Given the description of an element on the screen output the (x, y) to click on. 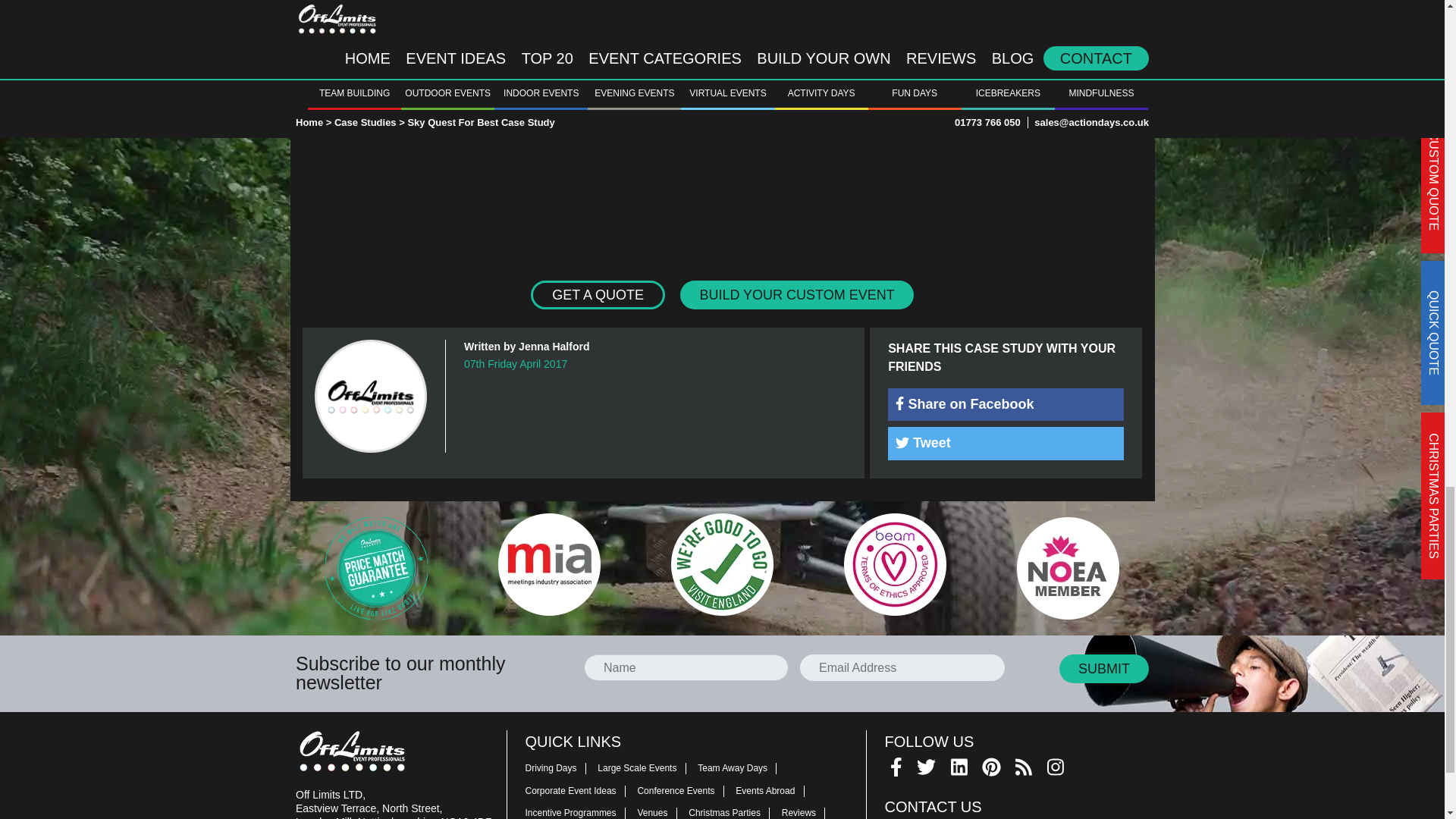
Tweet (1006, 442)
Driving Days (559, 766)
Share on Facebook (1006, 404)
SUBMIT (1103, 668)
Conference Events (684, 789)
Corporate Event Ideas (578, 789)
Team Away Days (740, 766)
Large Scale Events (645, 766)
